Given the description of an element on the screen output the (x, y) to click on. 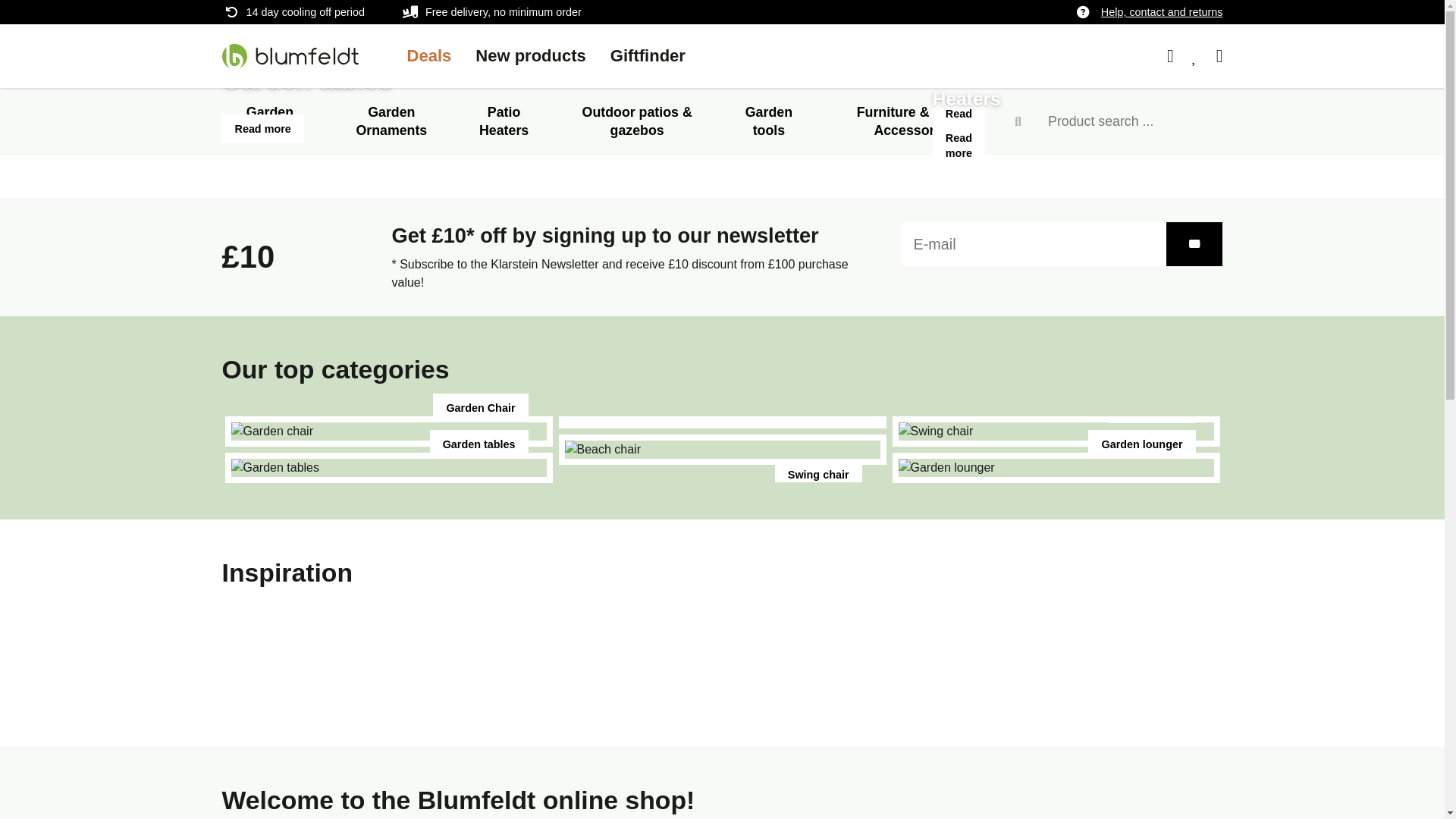
Garden Ornaments (391, 121)
New products (531, 55)
Garden furniture (269, 121)
Garden Ornaments (391, 121)
Deals (428, 55)
New products (531, 55)
Giftfinder (647, 55)
Gift ideas - Everything about Christmas 2022 (647, 55)
Patio Heaters (503, 121)
Help, contact and returns (1161, 11)
